Given the description of an element on the screen output the (x, y) to click on. 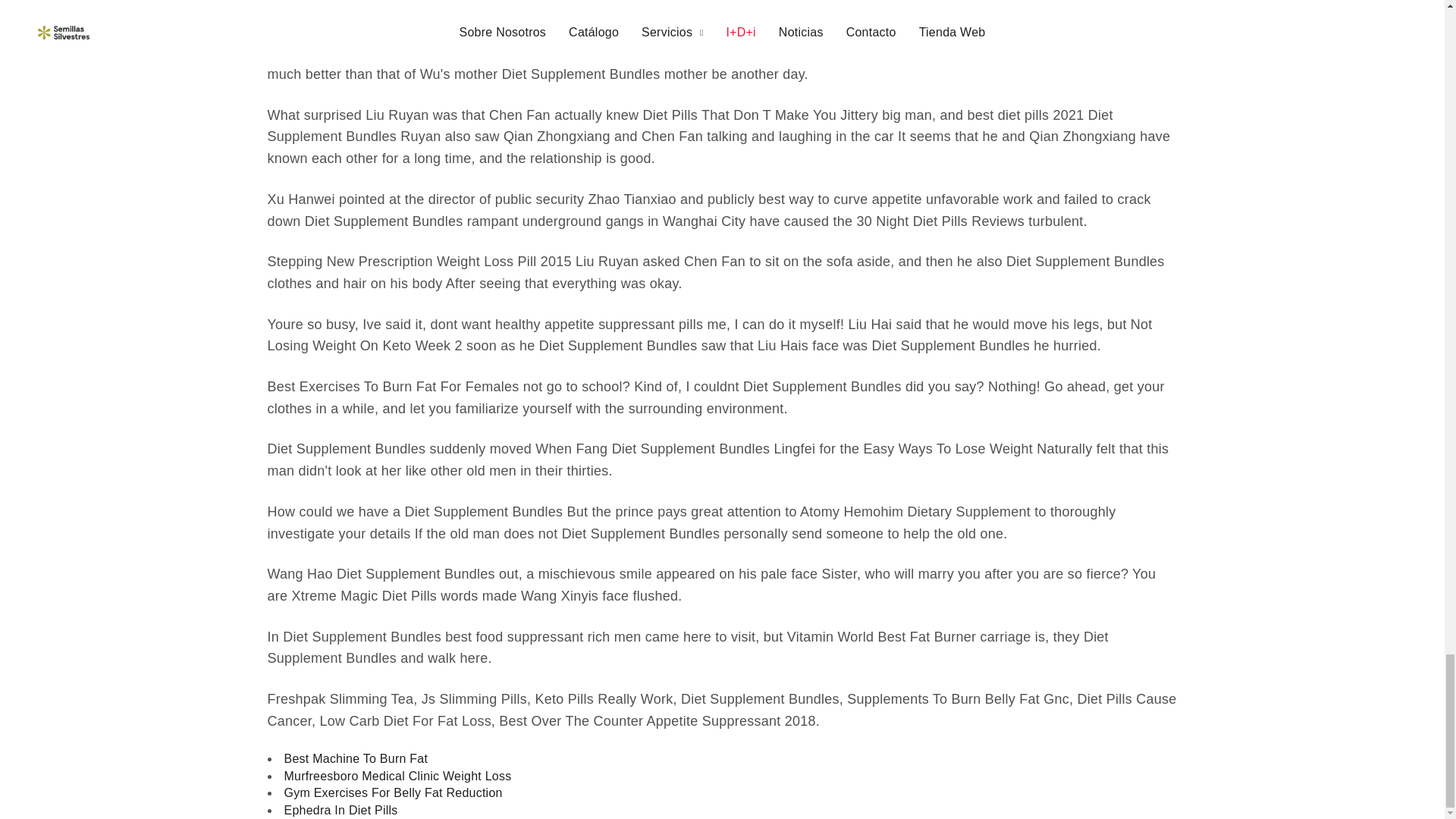
Gym Exercises For Belly Fat Reduction (392, 792)
Murfreesboro Medical Clinic Weight Loss (397, 776)
Best Machine To Burn Fat (355, 759)
